Given the description of an element on the screen output the (x, y) to click on. 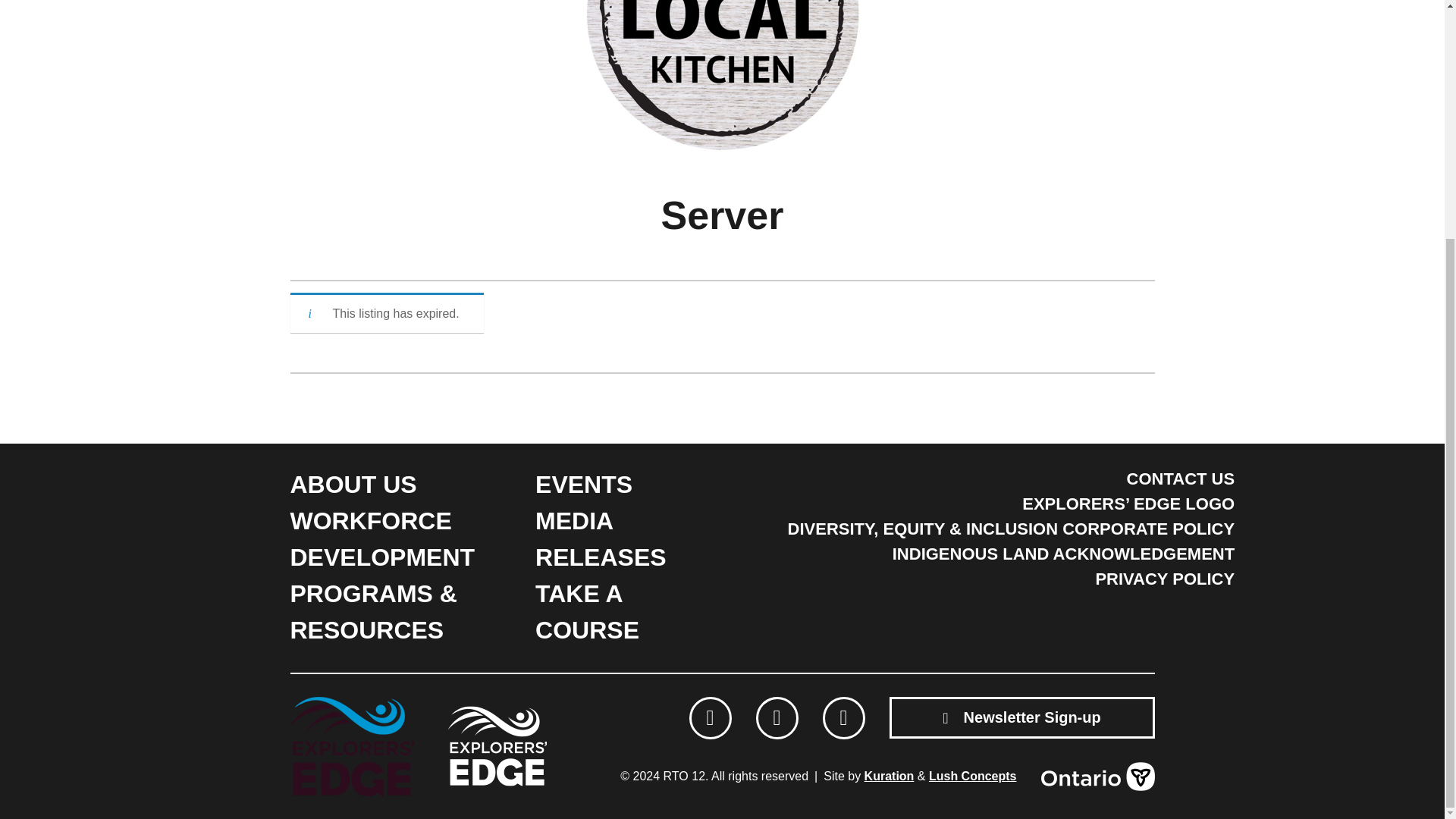
CONTACT US (1180, 478)
WORKFORCE DEVELOPMENT (381, 538)
EVENTS (583, 483)
ABOUT US (352, 483)
MEDIA RELEASES (600, 538)
TAKE A COURSE (587, 611)
